Given the description of an element on the screen output the (x, y) to click on. 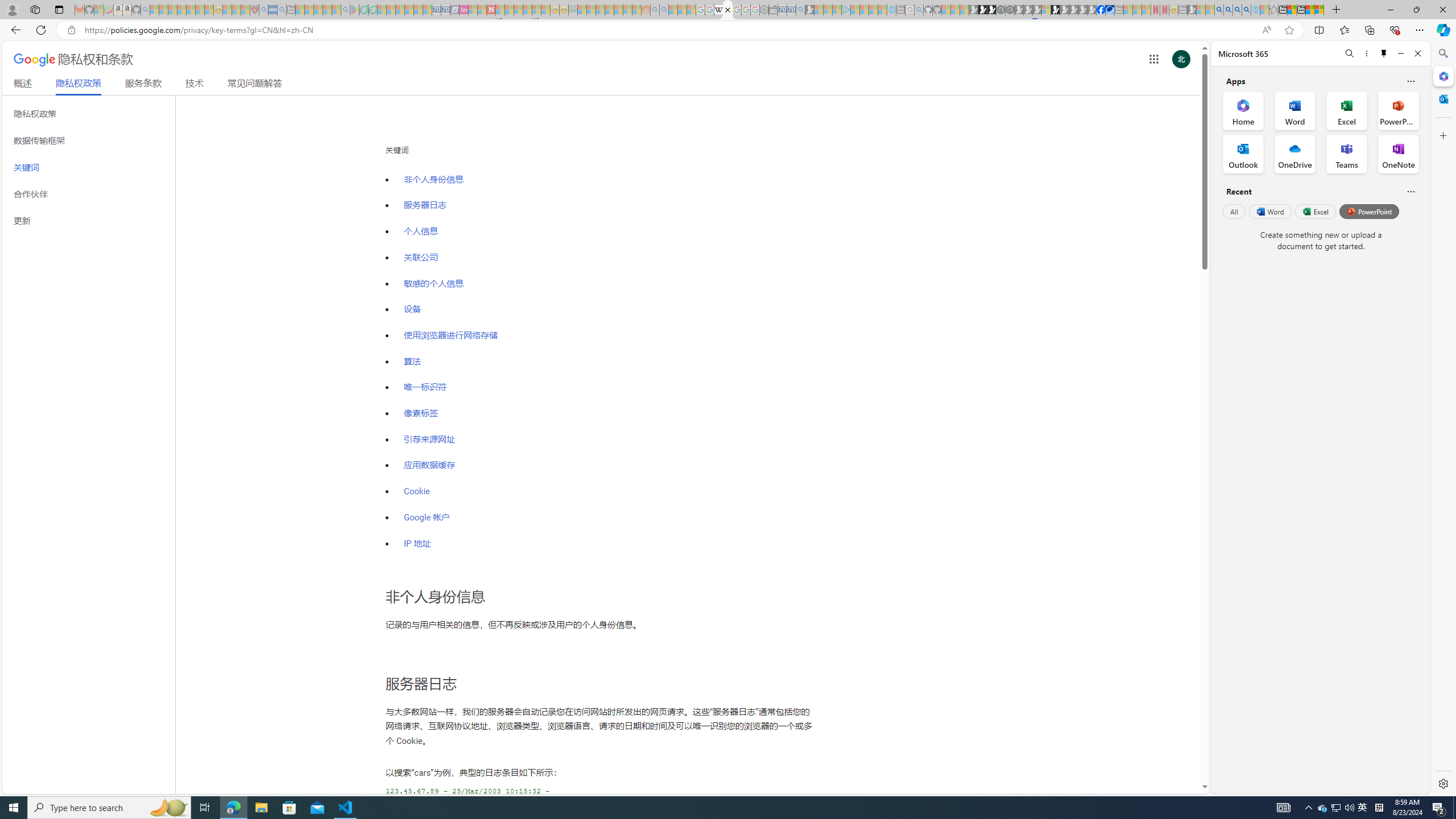
OneDrive Office App (1295, 154)
